Given the description of an element on the screen output the (x, y) to click on. 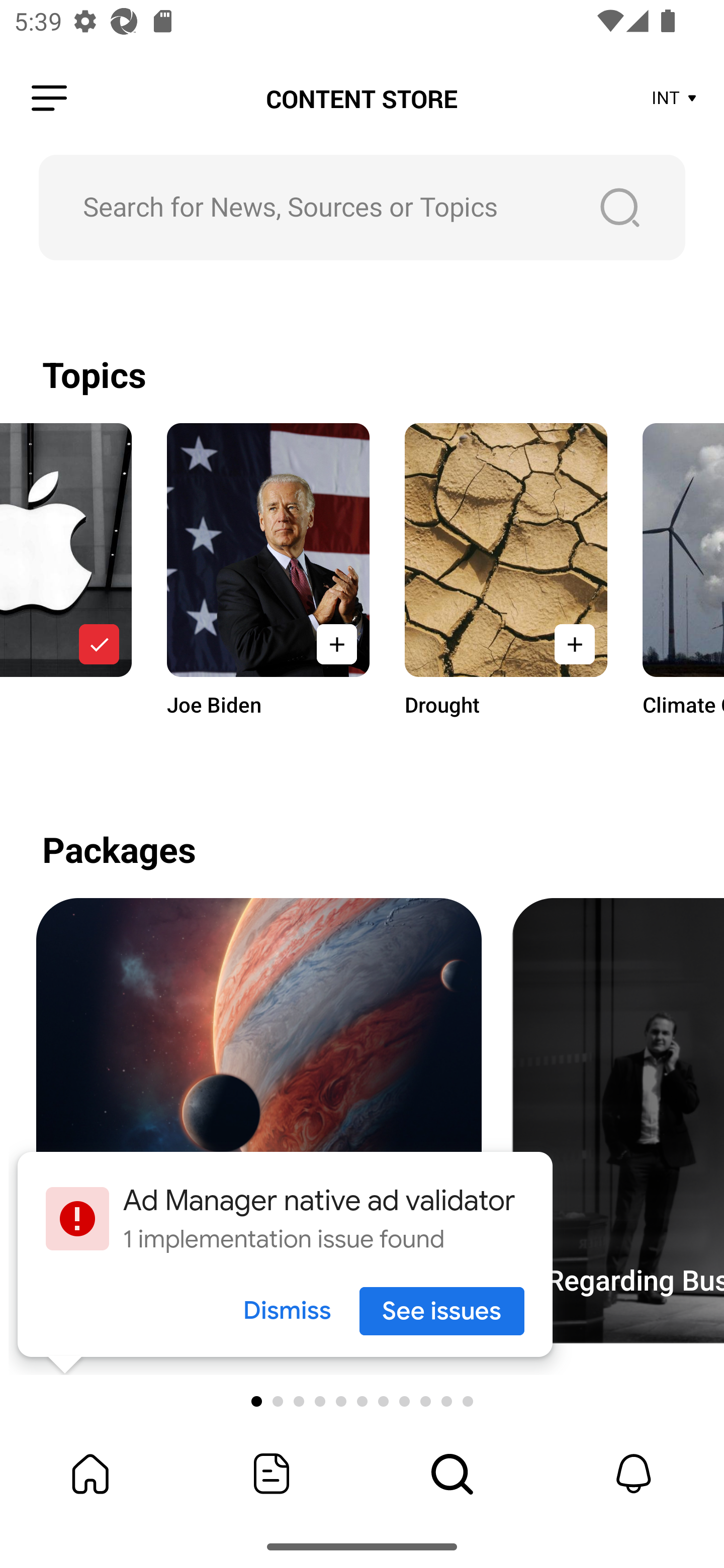
INT Store Area (674, 98)
Leading Icon (49, 98)
Search for News, Sources or Topics Search Button (361, 207)
Add To My Bundle (98, 644)
Add To My Bundle (336, 644)
Add To My Bundle (574, 644)
Content Store Discover Card Image Tech & Science (258, 1120)
My Bundle (90, 1473)
Featured (271, 1473)
Notifications (633, 1473)
